Given the description of an element on the screen output the (x, y) to click on. 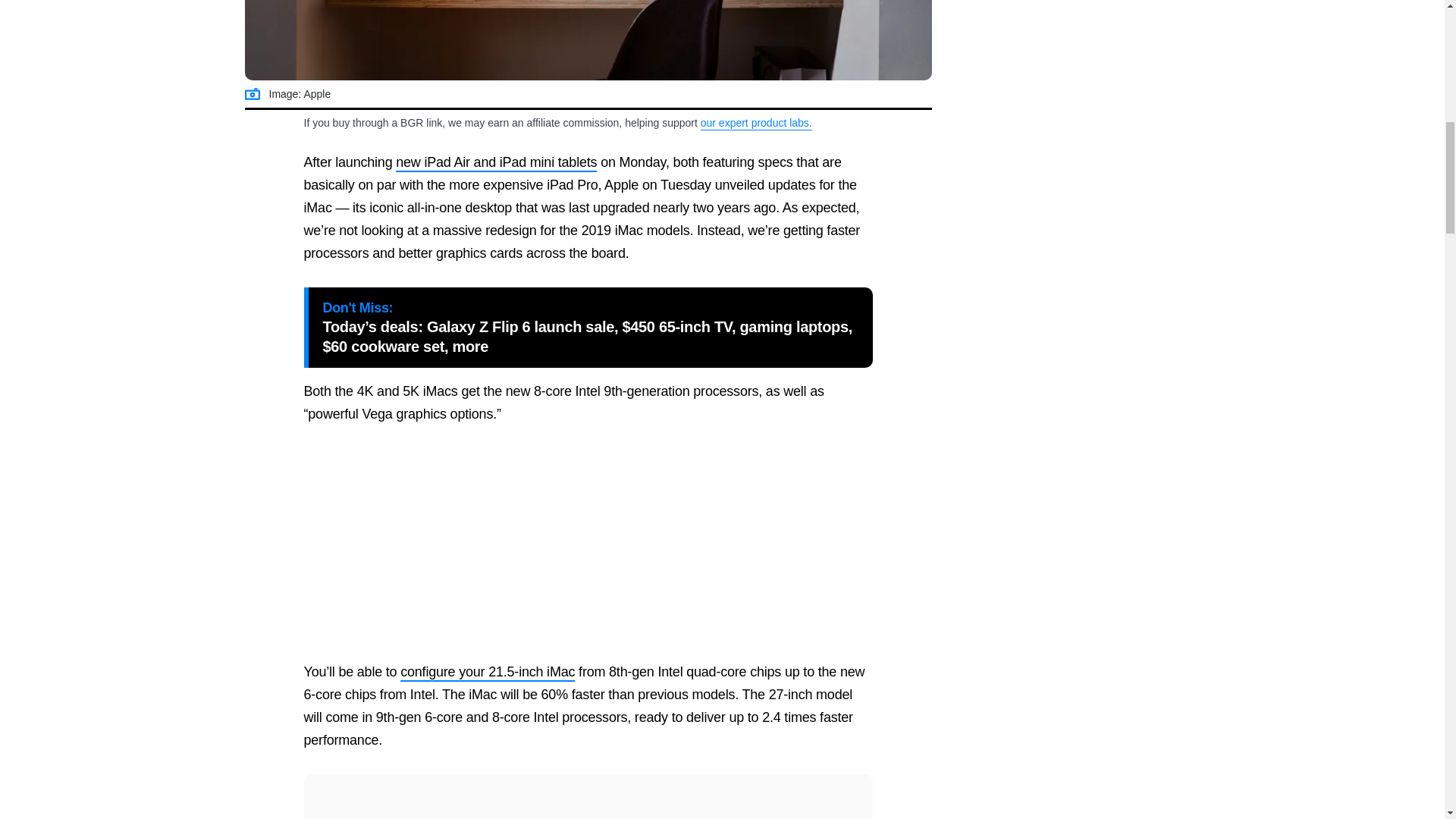
iMac 2019 Specs (587, 40)
3rd party ad content (587, 542)
